Given the description of an element on the screen output the (x, y) to click on. 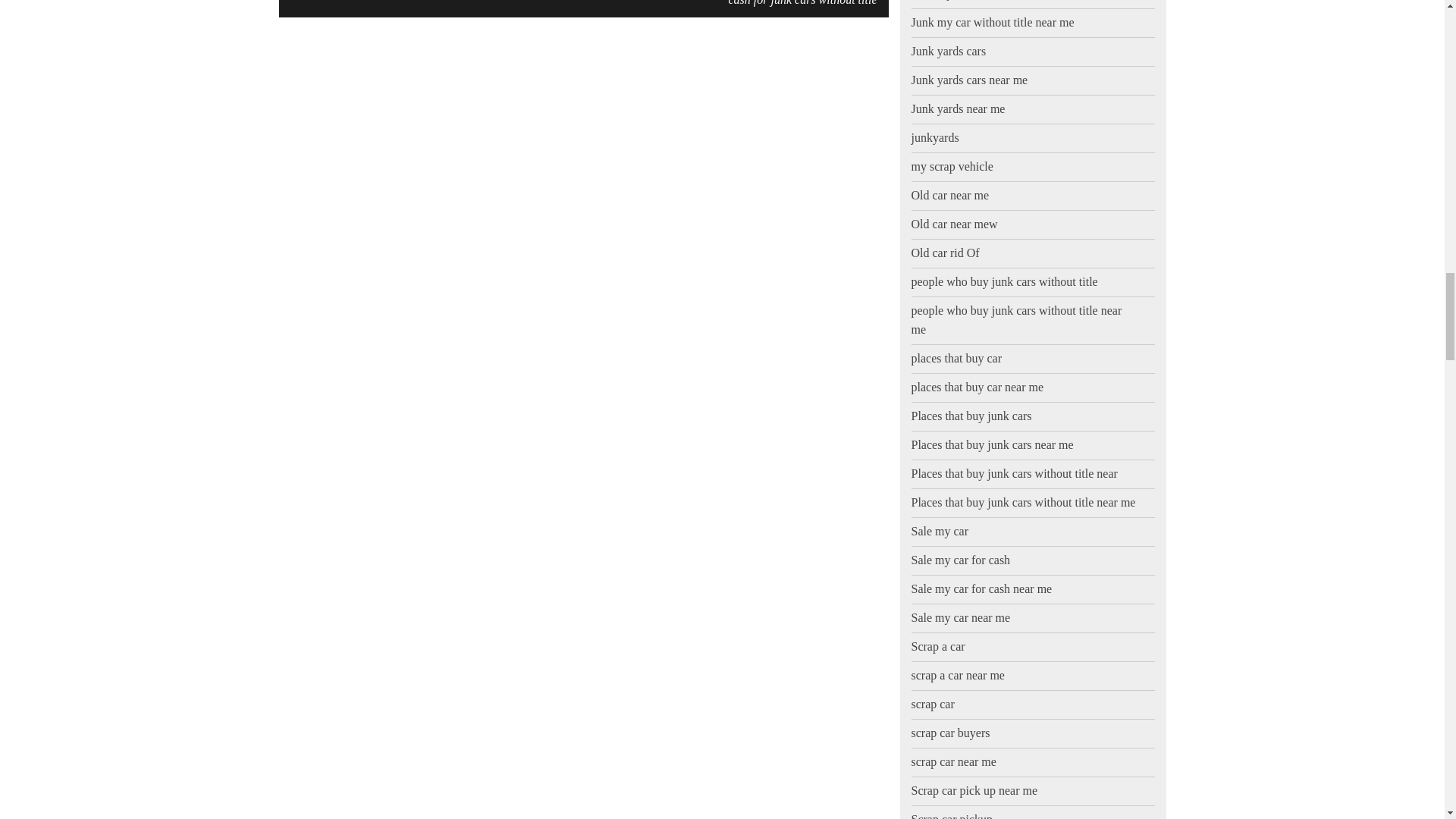
cash for junk cars without title (802, 4)
cash for junk cars without title Tag (802, 4)
